Given the description of an element on the screen output the (x, y) to click on. 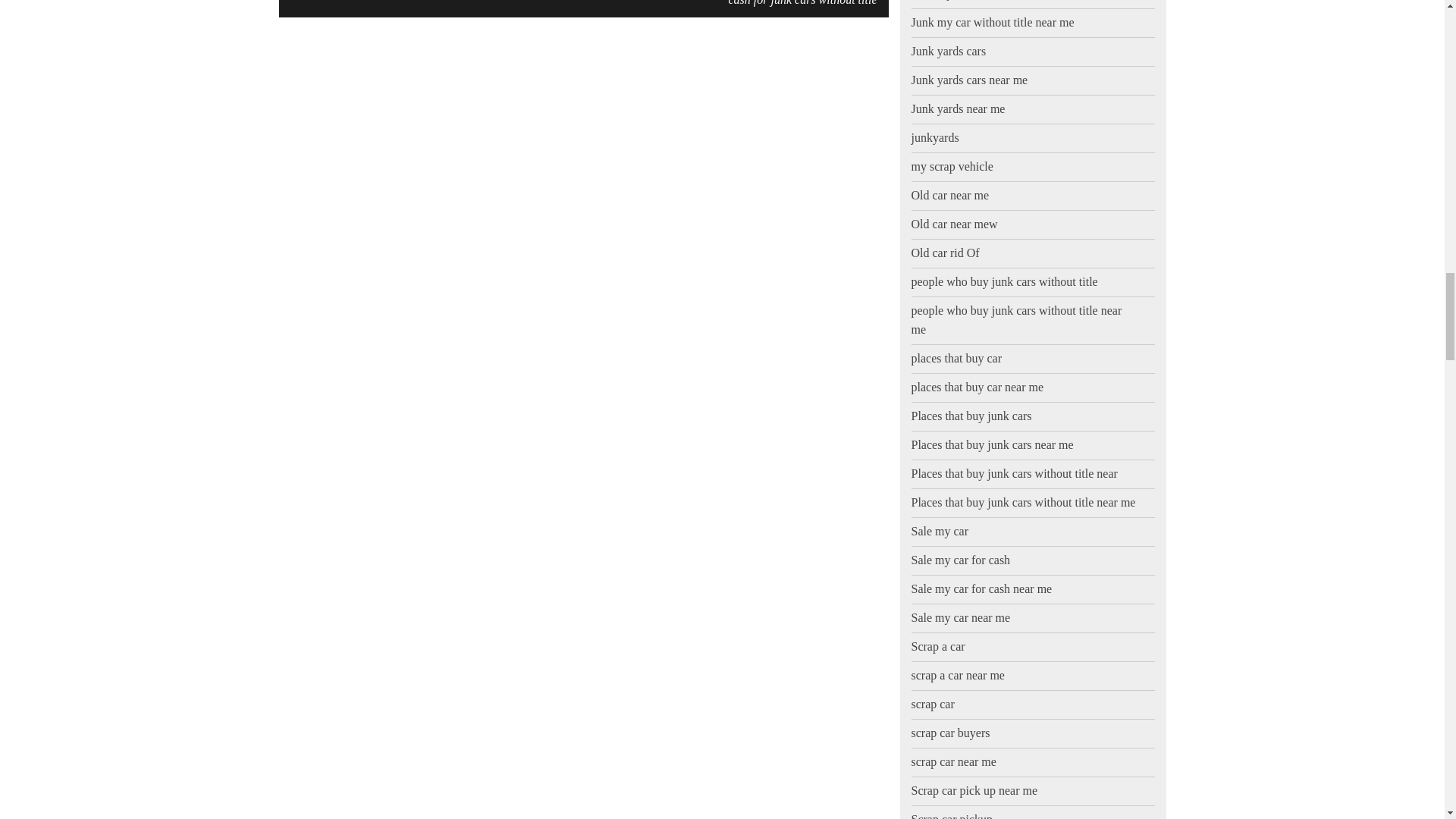
cash for junk cars without title (802, 4)
cash for junk cars without title Tag (802, 4)
